Given the description of an element on the screen output the (x, y) to click on. 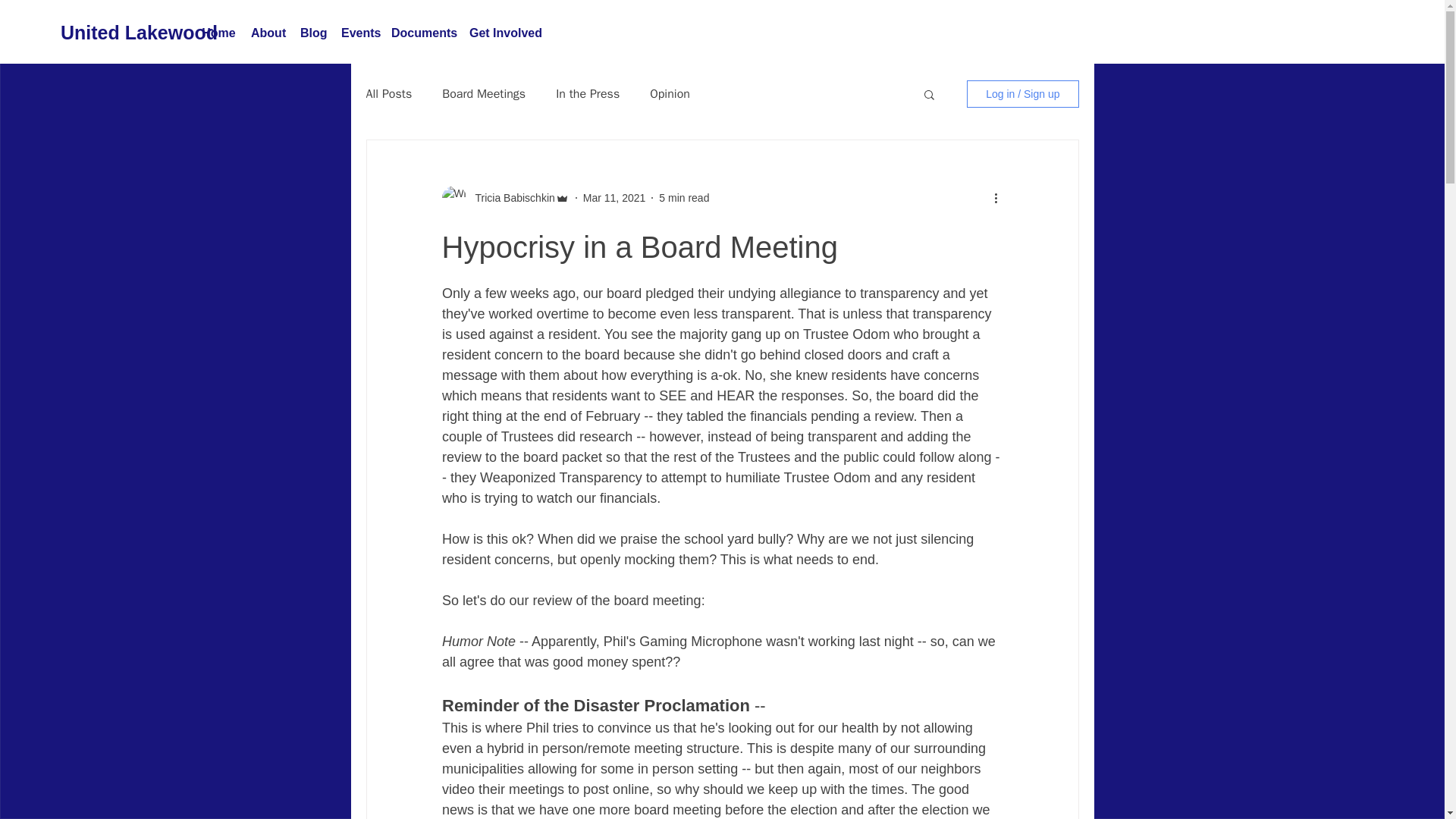
Mar 11, 2021 (614, 196)
Documents (422, 33)
United Lakewood (138, 32)
All Posts (388, 94)
In the Press (588, 94)
Tricia Babischkin (509, 197)
Get Involved (502, 33)
Board Meetings (483, 94)
Opinion (669, 94)
About (267, 33)
5 min read (684, 196)
Events (358, 33)
Blog (312, 33)
Home (218, 33)
